Given the description of an element on the screen output the (x, y) to click on. 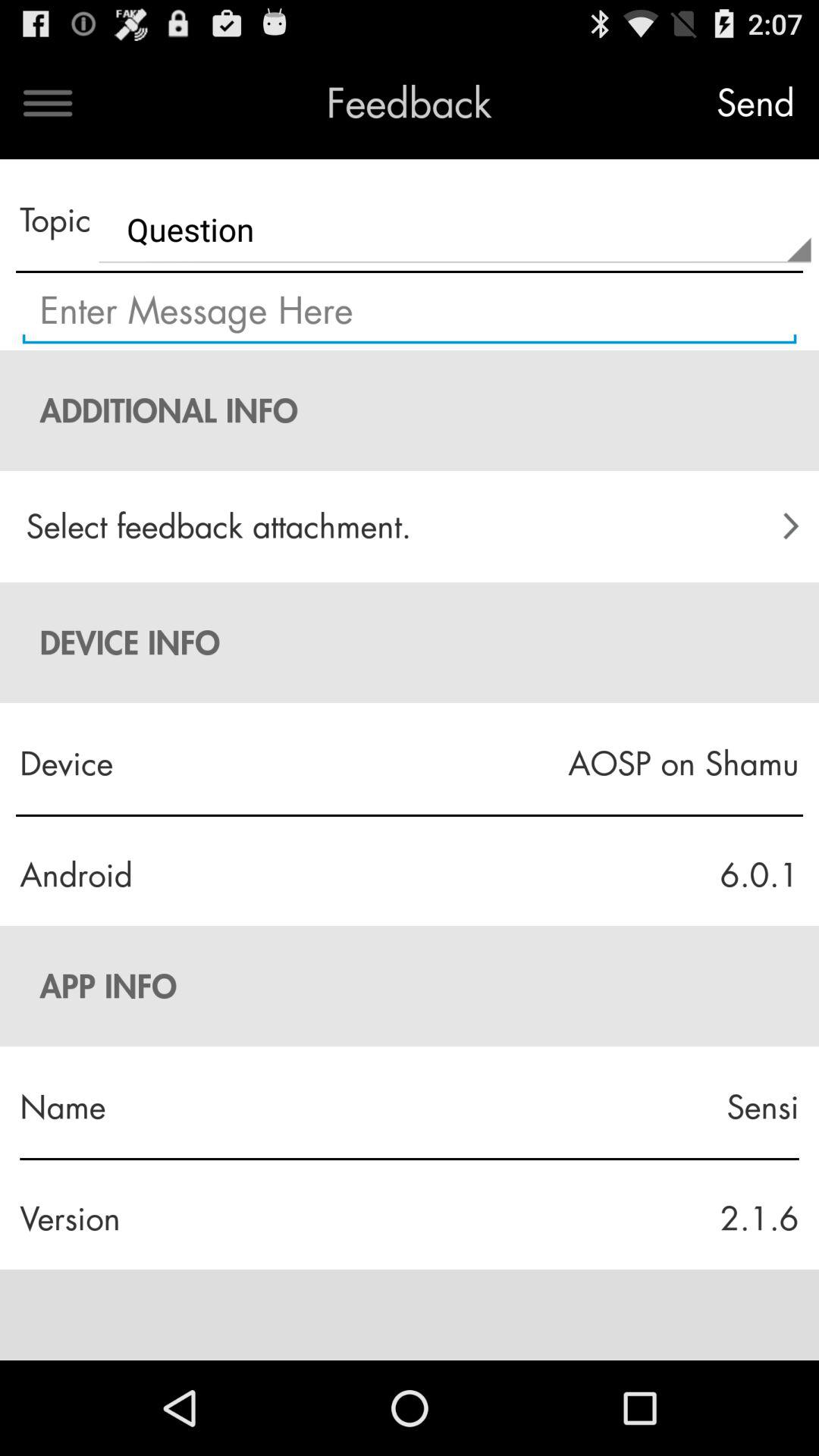
input field (409, 311)
